Given the description of an element on the screen output the (x, y) to click on. 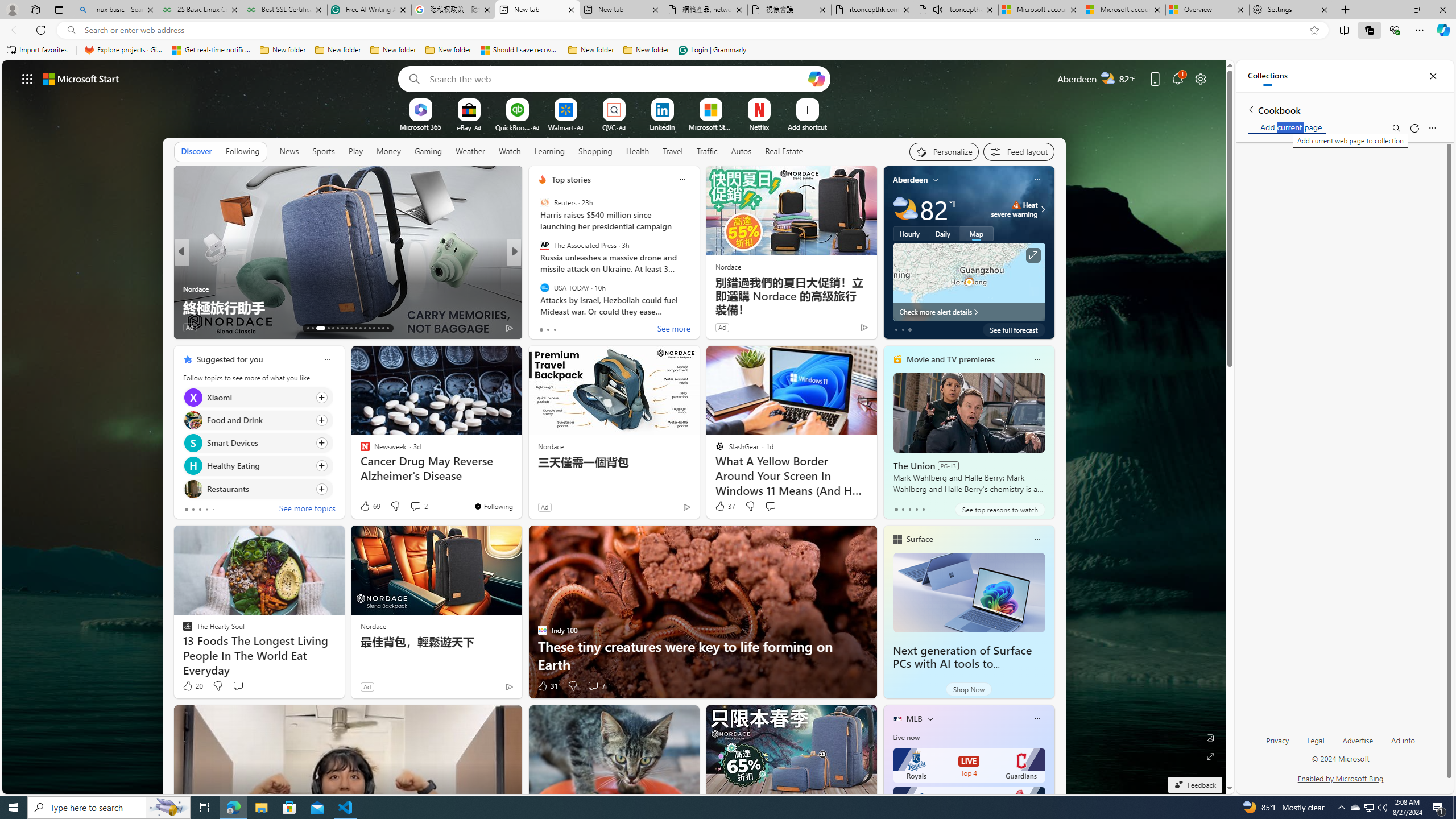
Should I save recovered Word documents? - Microsoft Support (519, 49)
AutomationID: tab-20 (346, 328)
oceanbluemarine (558, 288)
Edit Background (1210, 737)
Expand background (1210, 756)
Click to follow topic Restaurants (257, 488)
See more topics (306, 509)
Heat - Severe (1015, 204)
Page settings (1200, 78)
XDA Developers (537, 288)
Ash & Pri (537, 288)
